Given the description of an element on the screen output the (x, y) to click on. 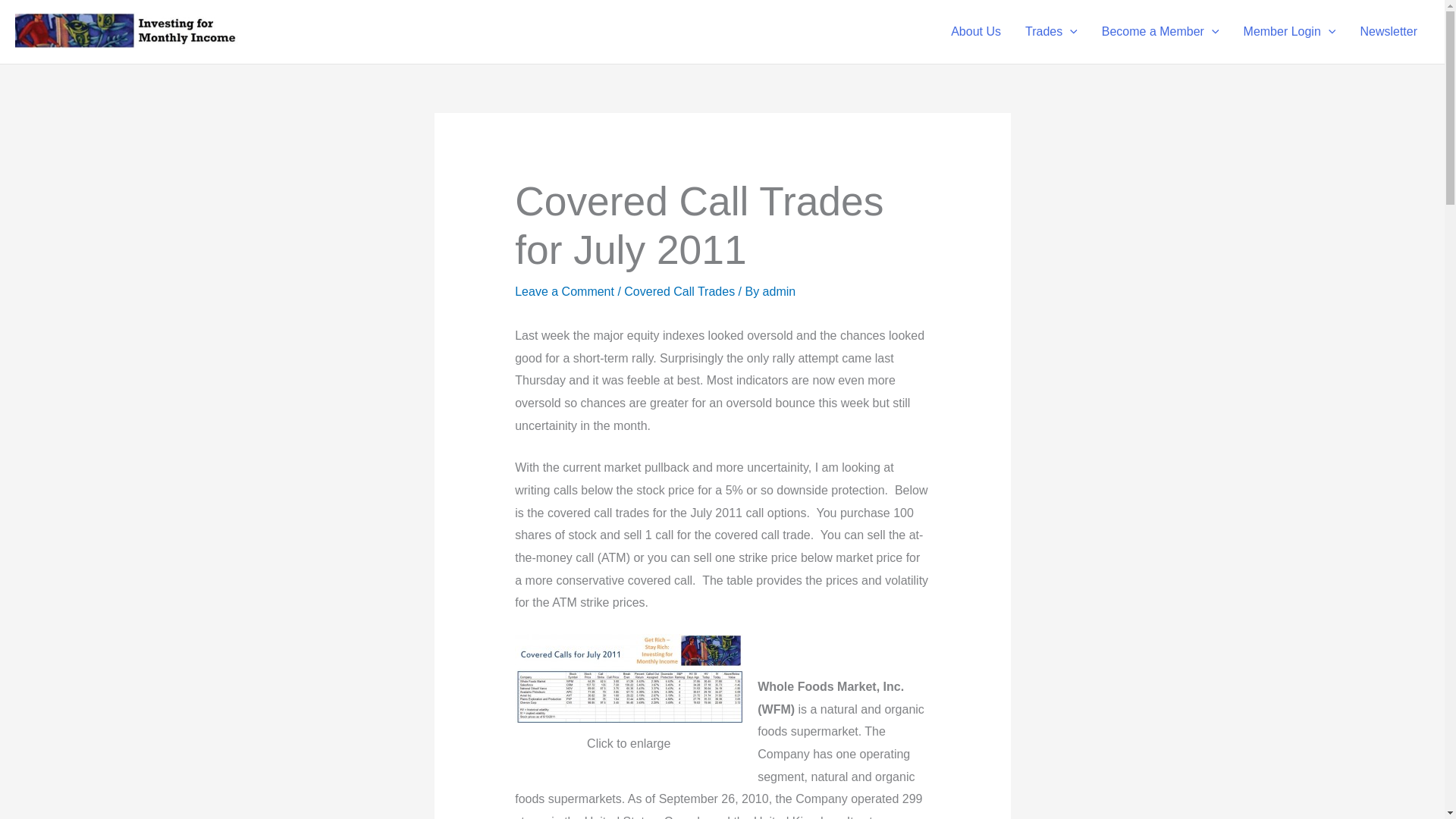
Trades (1051, 31)
View all posts by admin (779, 291)
Member Login (1289, 31)
Newsletter (1388, 31)
Become a Member (1160, 31)
Leave a Comment (564, 291)
Get Rich Stay Rich - July 2011 Covered Calls (628, 677)
admin (779, 291)
About Us (976, 31)
Covered Call Trades (679, 291)
